Given the description of an element on the screen output the (x, y) to click on. 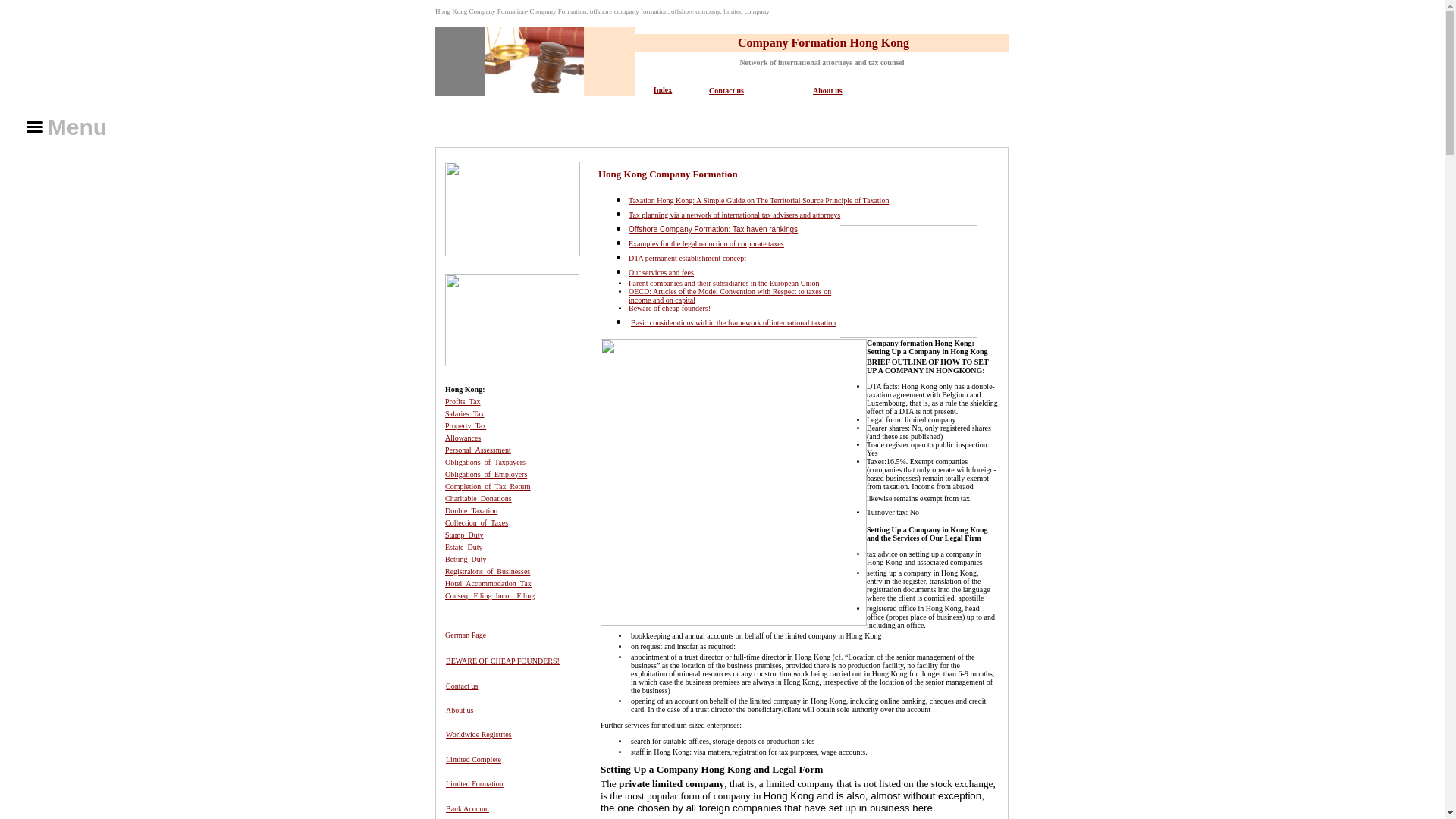
BEWARE OF CHEAP FOUNDERS! (502, 660)
Allowances (462, 438)
Limited Formation (474, 783)
Contact us (726, 90)
Index (662, 89)
About us (827, 90)
Worldwide Registries (478, 734)
Menu (70, 127)
Contact us (462, 685)
Limited Complete (472, 759)
